Given the description of an element on the screen output the (x, y) to click on. 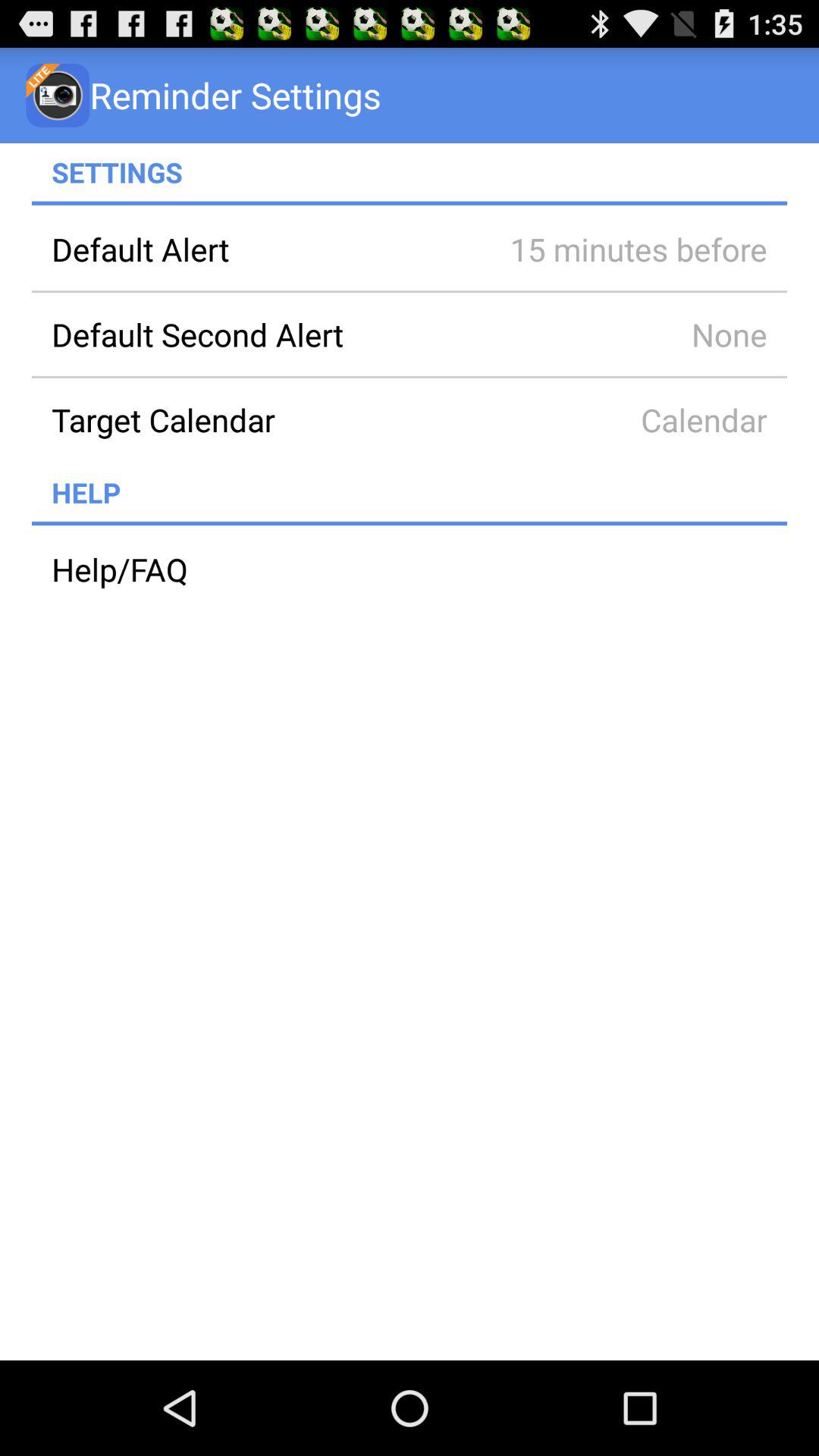
press target calendar item (259, 419)
